Given the description of an element on the screen output the (x, y) to click on. 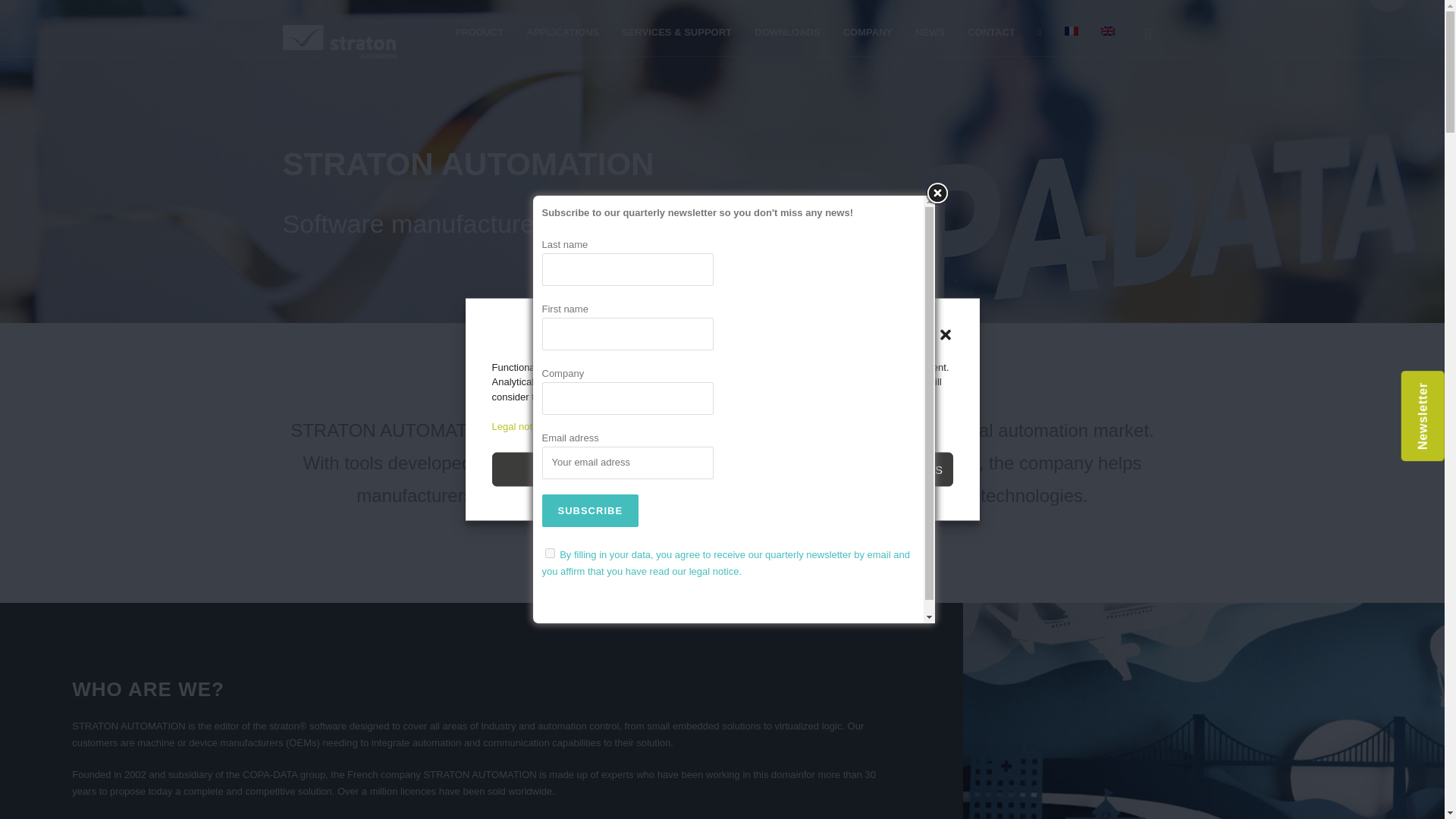
DOWNLOADS (786, 32)
PRODUCT (479, 32)
Subscribe (590, 510)
REFUSE (721, 469)
NEWS (930, 32)
ACCEPT (566, 469)
VIEW PREFERENCES (877, 469)
1 (549, 552)
Close (935, 192)
APPLICATIONS (562, 32)
Legal notice (518, 425)
COMPANY (867, 32)
